Given the description of an element on the screen output the (x, y) to click on. 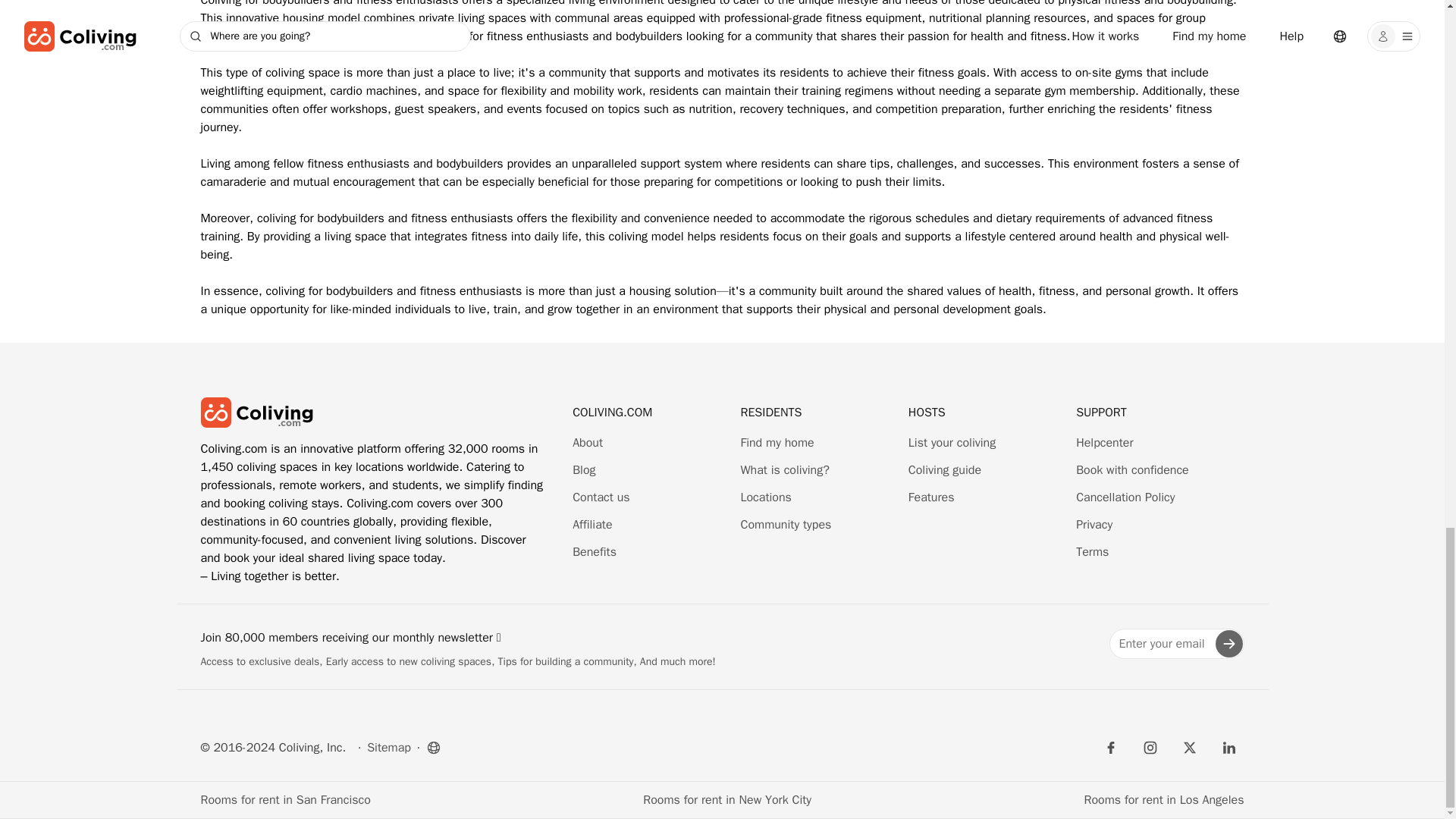
Affiliate (591, 524)
Coliving Benefits (593, 551)
Blog (583, 469)
About (587, 442)
Contact Coliving.com (600, 497)
Contact us (600, 497)
About Coliving.com (587, 442)
Coliving Destinations (764, 497)
Benefits (593, 551)
Coliving destinations (776, 442)
Coliving Blog (583, 469)
Find my home (776, 442)
